Given the description of an element on the screen output the (x, y) to click on. 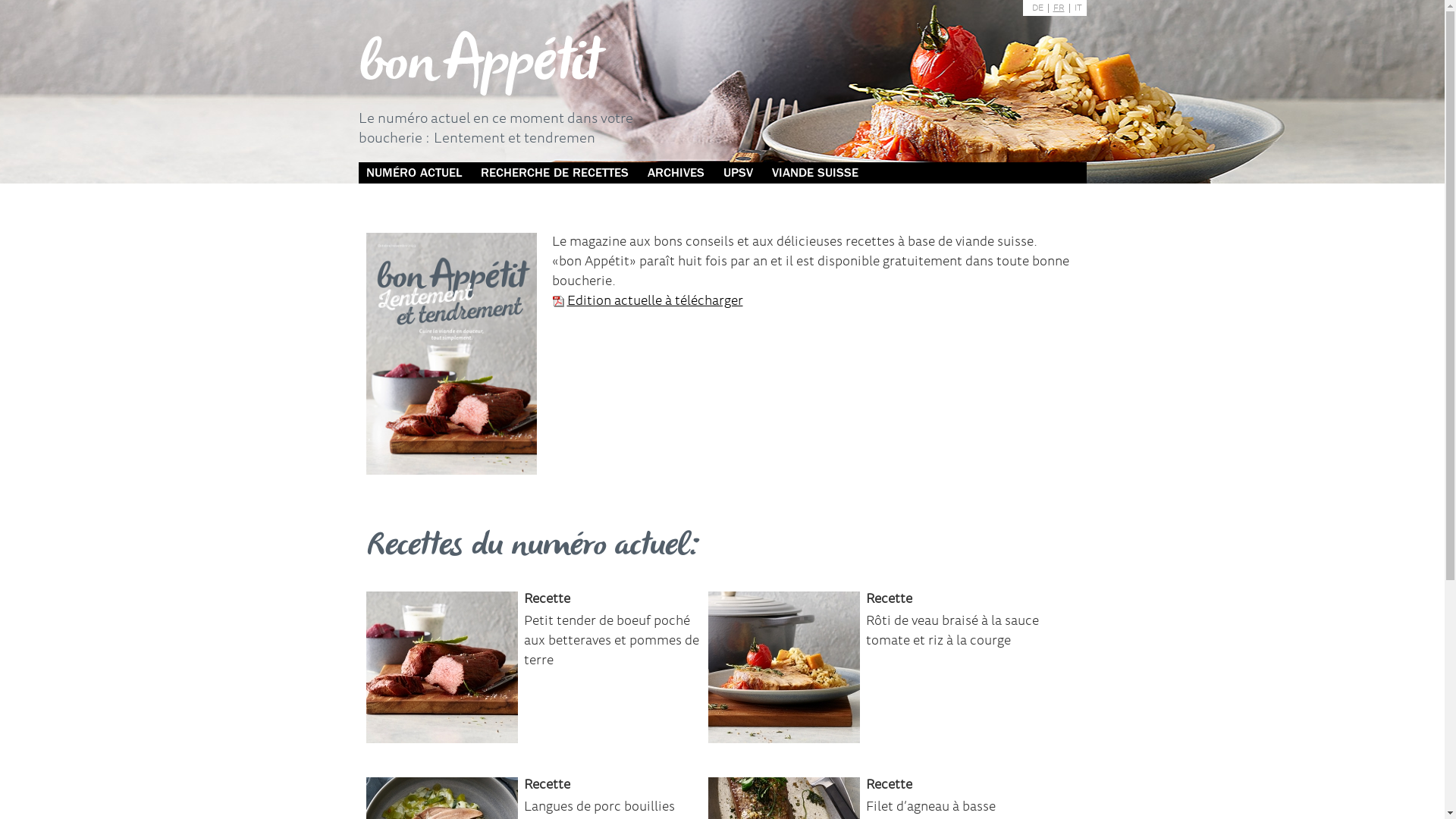
Recette Element type: text (889, 599)
Recette Element type: text (546, 785)
Recette Element type: text (889, 785)
IT Element type: text (1075, 7)
VIANDE SUISSE Element type: text (815, 172)
FR Element type: text (1058, 7)
document PDF Element type: hover (450, 353)
DE Element type: text (1037, 7)
Accueil Element type: hover (481, 65)
RECHERCHE DE RECETTES Element type: text (554, 172)
Recette Element type: text (546, 599)
UPSV Element type: text (737, 172)
ARCHIVES Element type: text (676, 172)
